Given the description of an element on the screen output the (x, y) to click on. 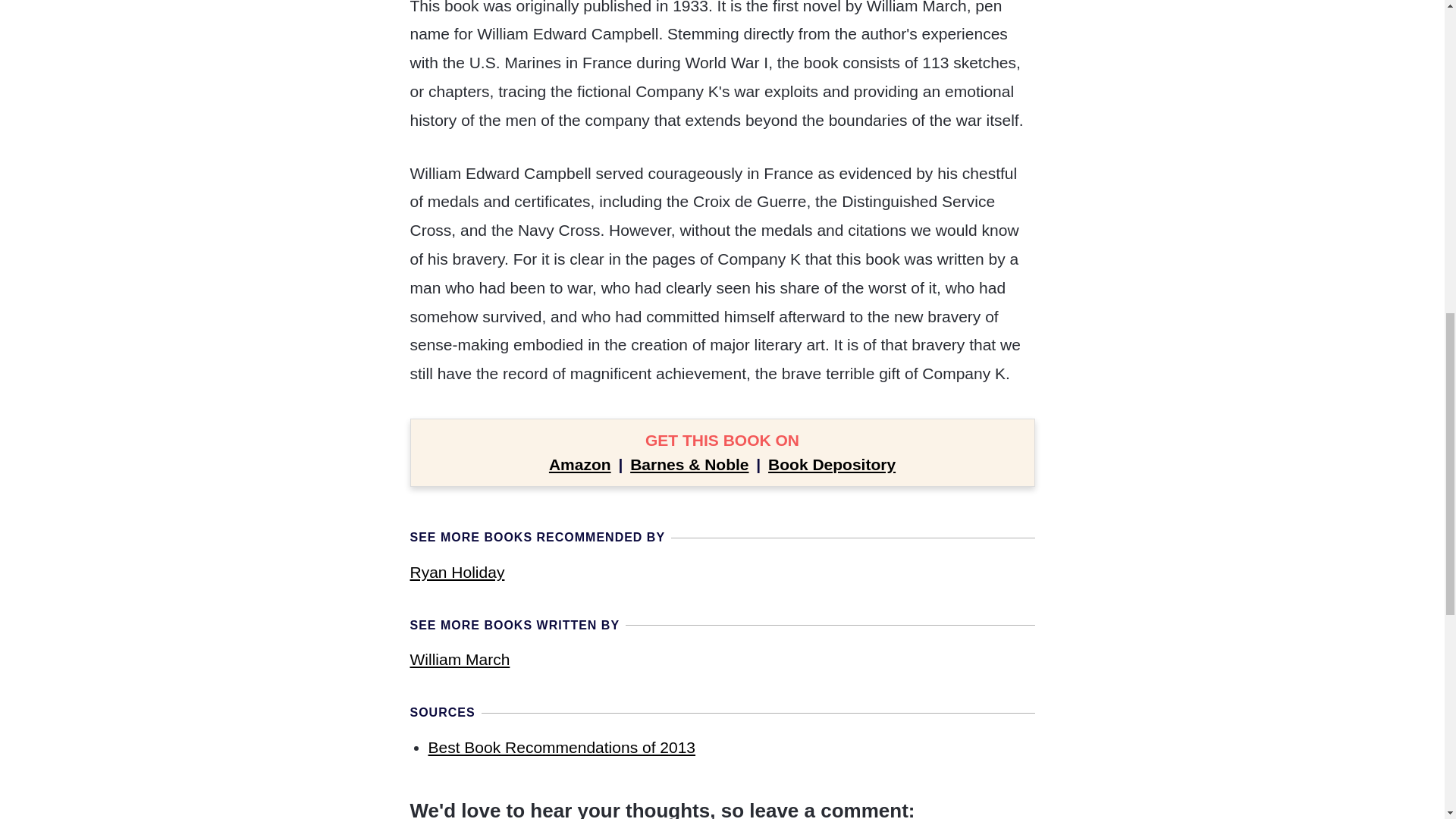
Ryan Holiday (456, 571)
William March (459, 659)
Amazon (579, 464)
Book Depository (831, 464)
Best Book Recommendations of 2013 (561, 746)
